Given the description of an element on the screen output the (x, y) to click on. 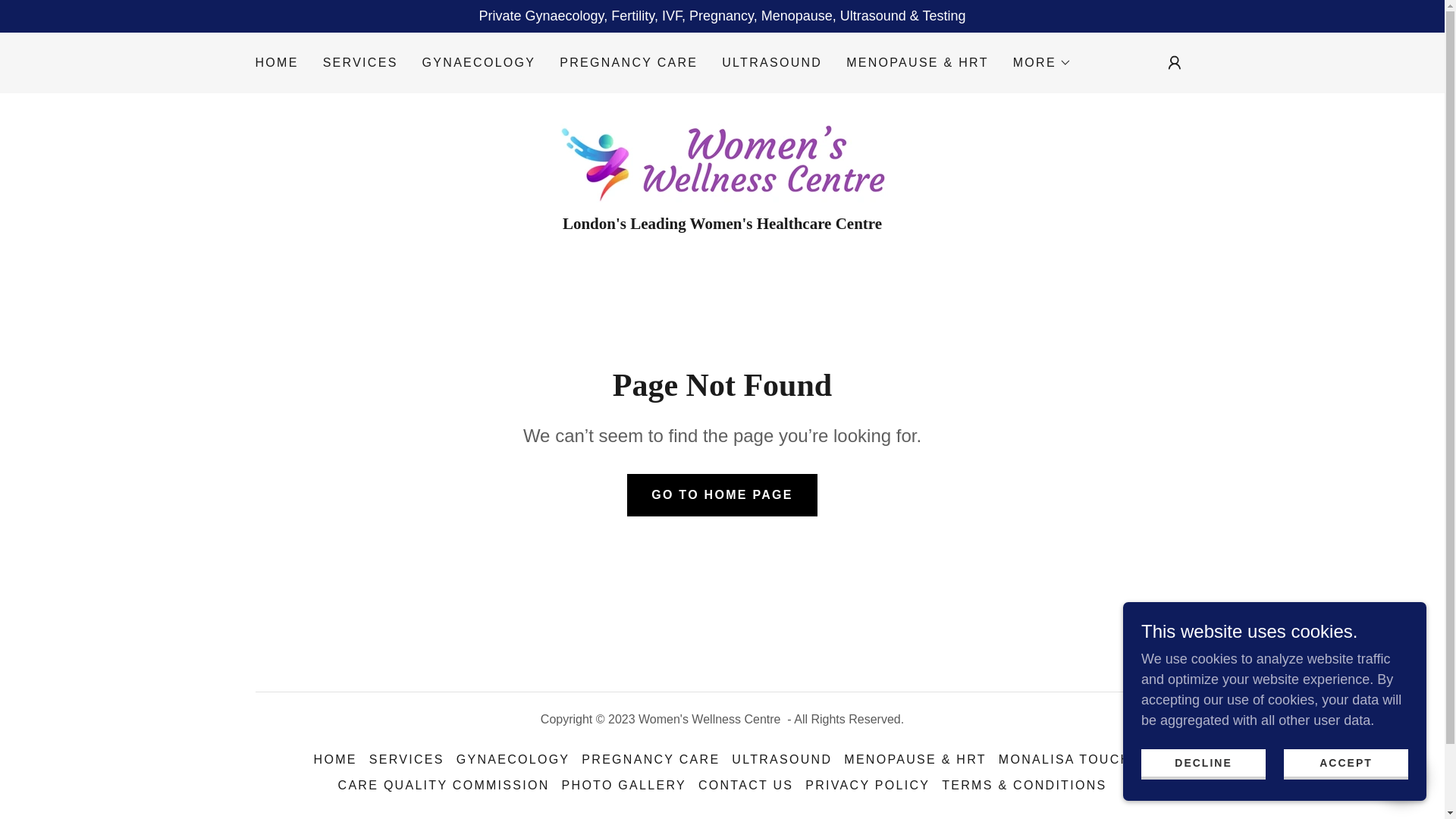
HOME (276, 62)
THE WOMEN'S WELLNESS CENTRE (721, 158)
MORE (1042, 63)
GYNAECOLOGY (478, 62)
SERVICES (360, 62)
ULTRASOUND (772, 62)
PREGNANCY CARE (627, 62)
